Given the description of an element on the screen output the (x, y) to click on. 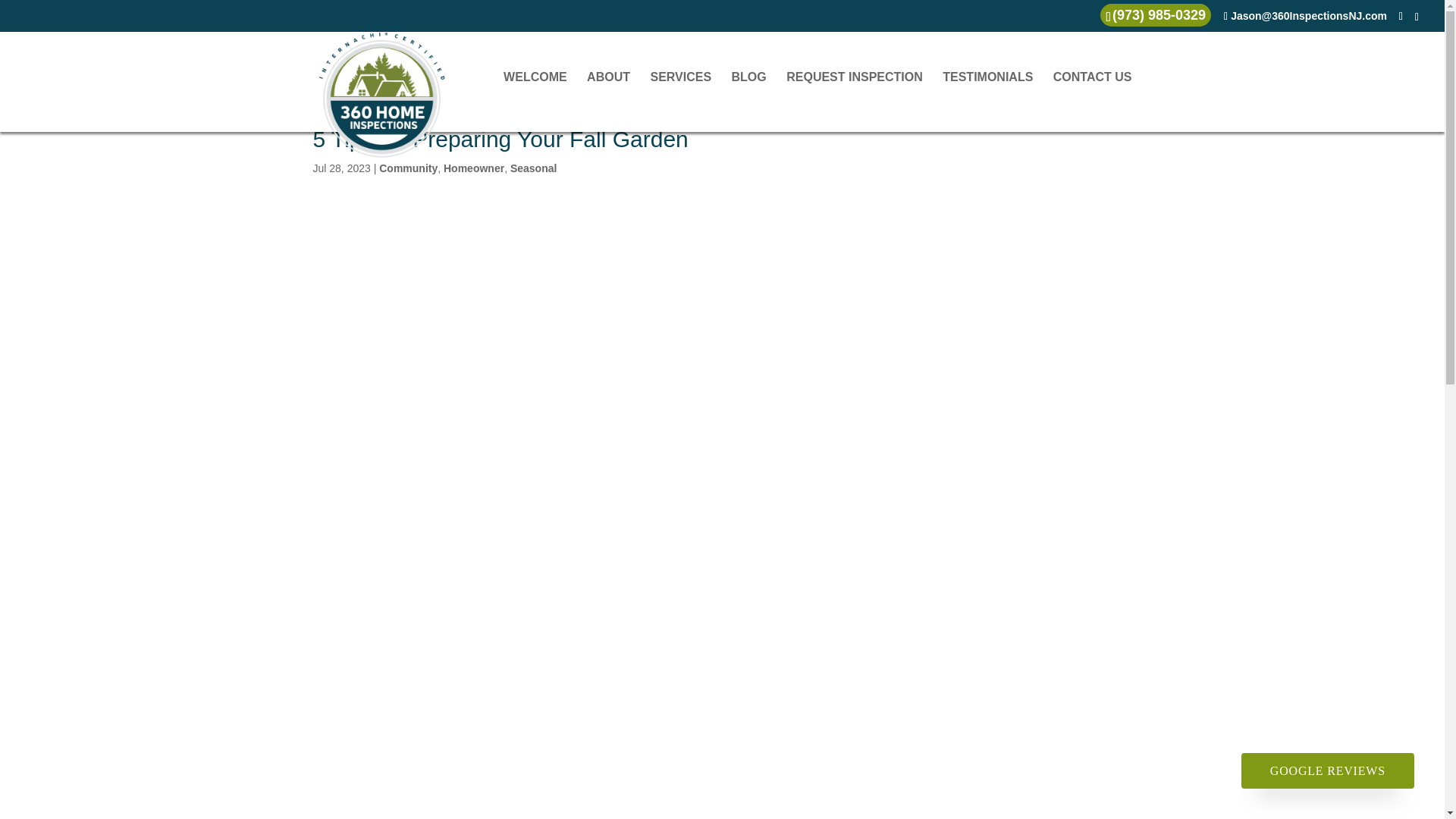
GOOGLE REVIEWS (1327, 770)
WELCOME (535, 101)
TESTIMONIALS (987, 101)
Community (408, 168)
CONTACT US (1092, 101)
SERVICES (680, 101)
REQUEST INSPECTION (854, 101)
Homeowner (473, 168)
Seasonal (533, 168)
